Given the description of an element on the screen output the (x, y) to click on. 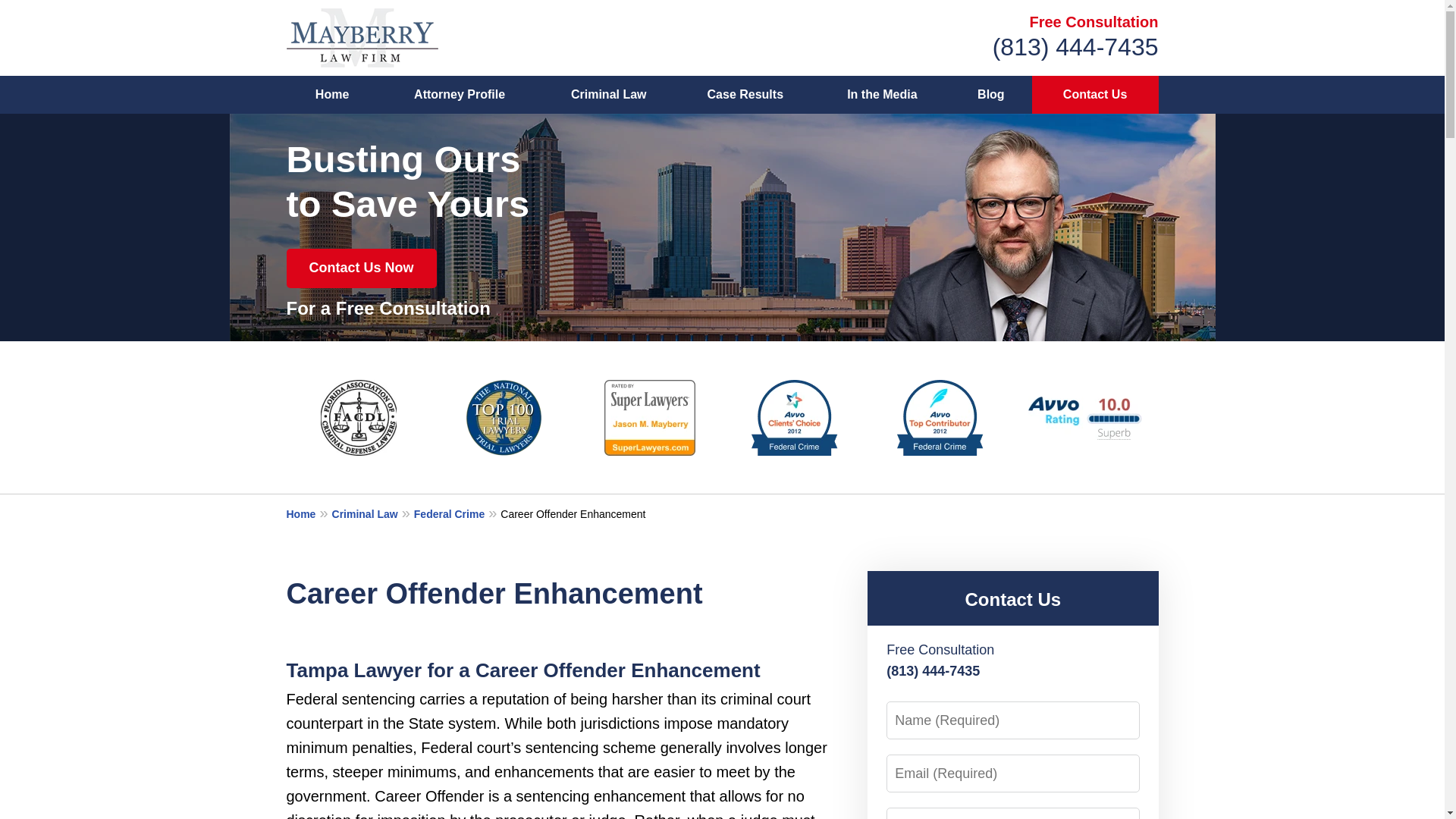
Contact Us Now (361, 268)
Criminal Law (609, 94)
Home (308, 513)
Case Results (745, 94)
Contact Us (1012, 598)
Criminal Law (372, 513)
Blog (990, 94)
Home (332, 94)
Free Consultation (1093, 21)
Federal Crime (456, 513)
